Given the description of an element on the screen output the (x, y) to click on. 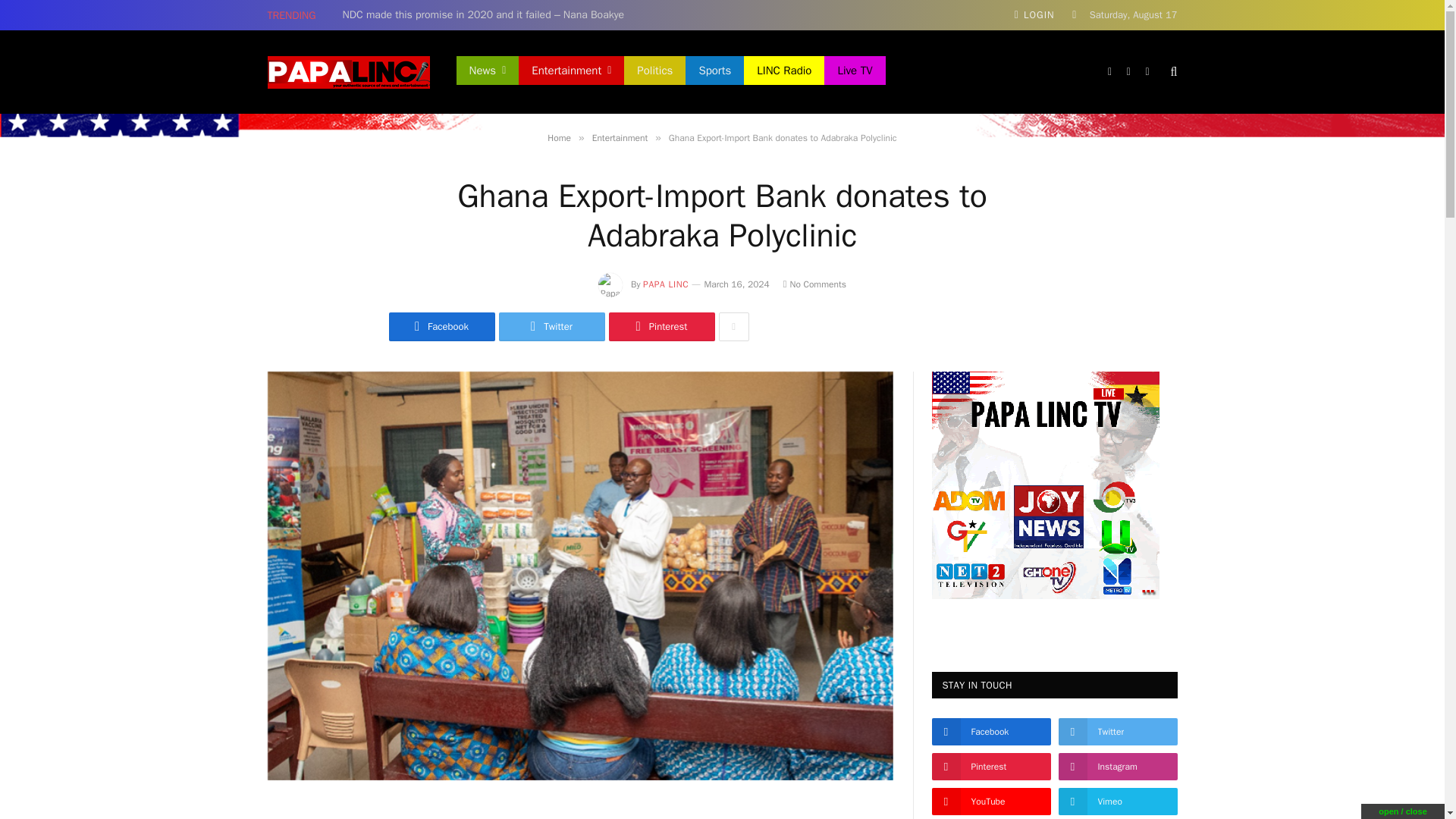
News (488, 70)
Entertainment (571, 70)
Sports (714, 70)
Live TV (854, 70)
Switch to Dark Design - easier on eyes. (1074, 14)
Posts by Papa Linc (665, 284)
Politics (654, 70)
MC PAPA LINC (347, 72)
LINC Radio (784, 70)
LOGIN (1034, 15)
